Given the description of an element on the screen output the (x, y) to click on. 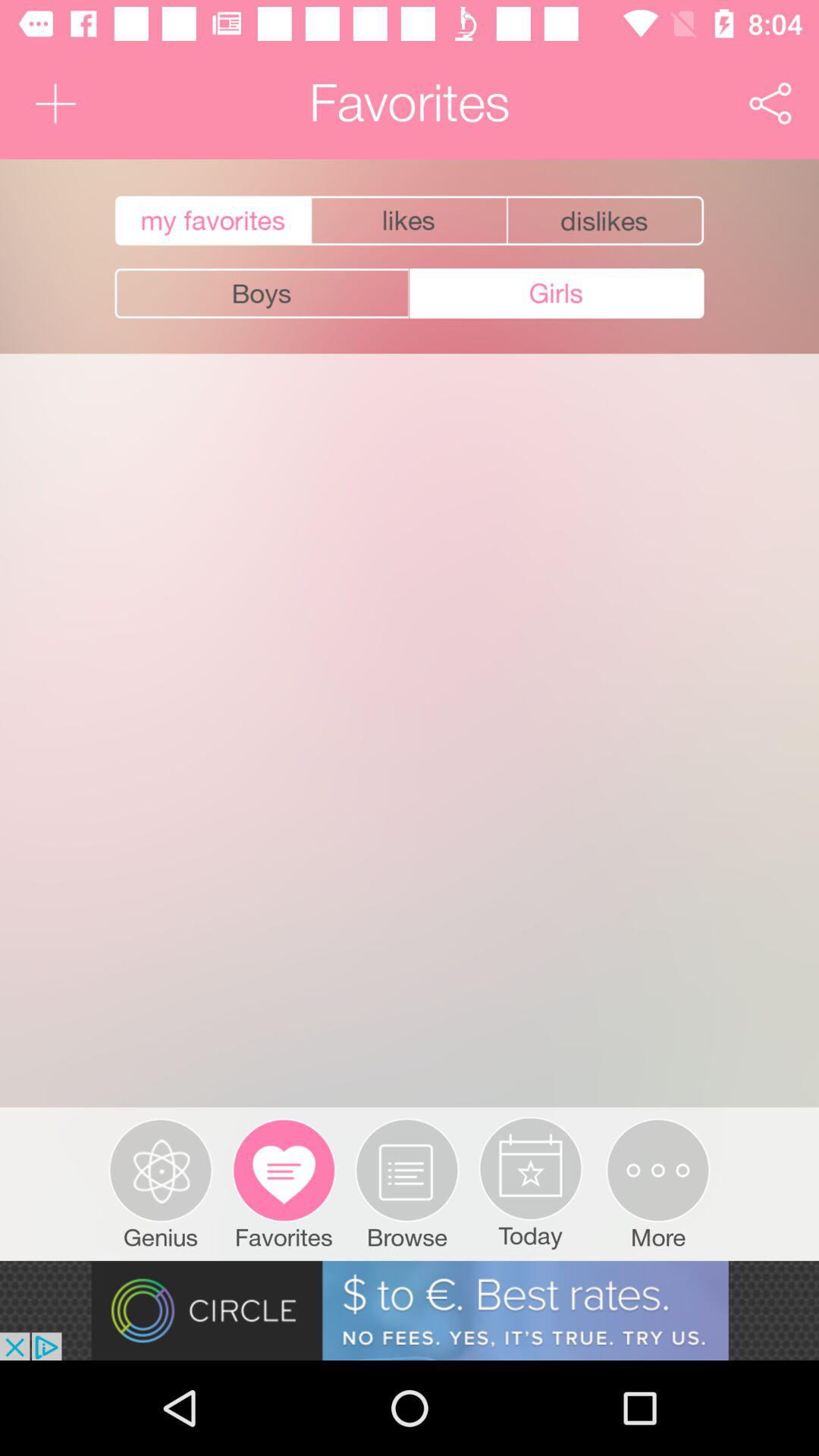
girls (556, 293)
